Given the description of an element on the screen output the (x, y) to click on. 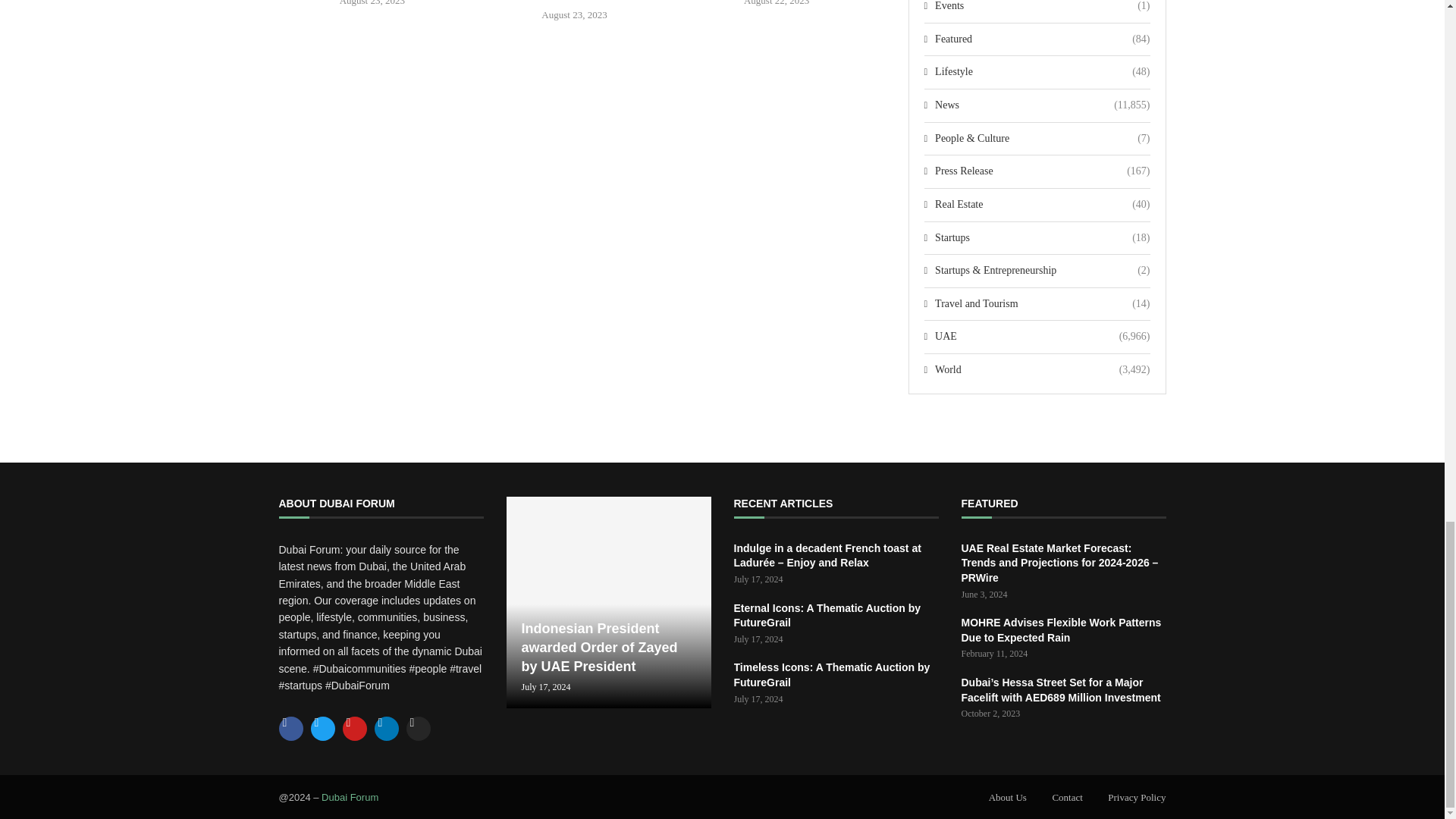
Indonesian President awarded Order of Zayed by UAE President (608, 602)
